Given the description of an element on the screen output the (x, y) to click on. 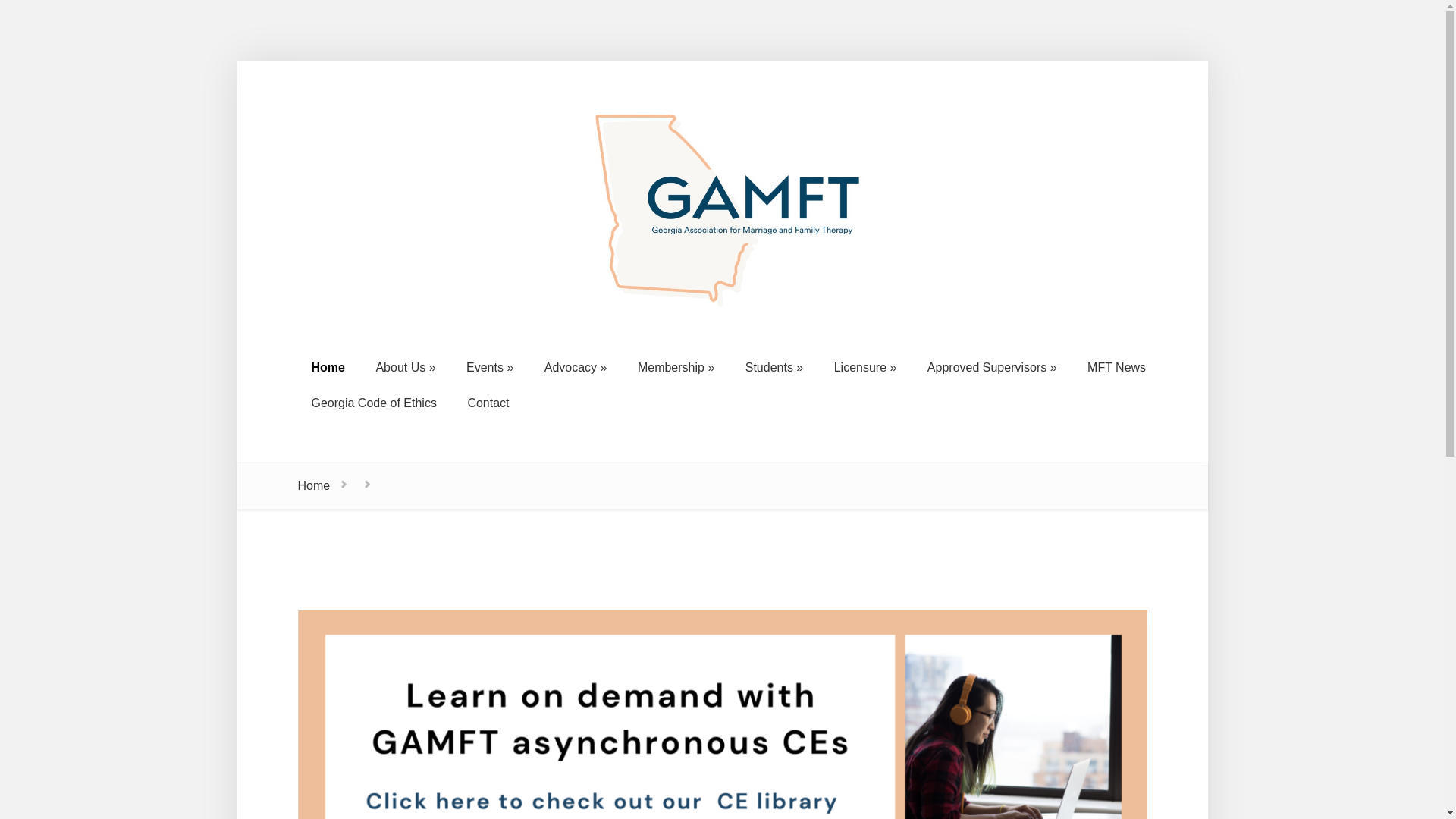
Membership (676, 367)
Georgia Code of Ethics (373, 403)
MFT News (1116, 367)
Events (489, 367)
Licensure (866, 367)
Approved Supervisors (992, 367)
Students (774, 367)
Advocacy (576, 367)
Contact (487, 403)
Home (327, 367)
About Us (404, 367)
